Given the description of an element on the screen output the (x, y) to click on. 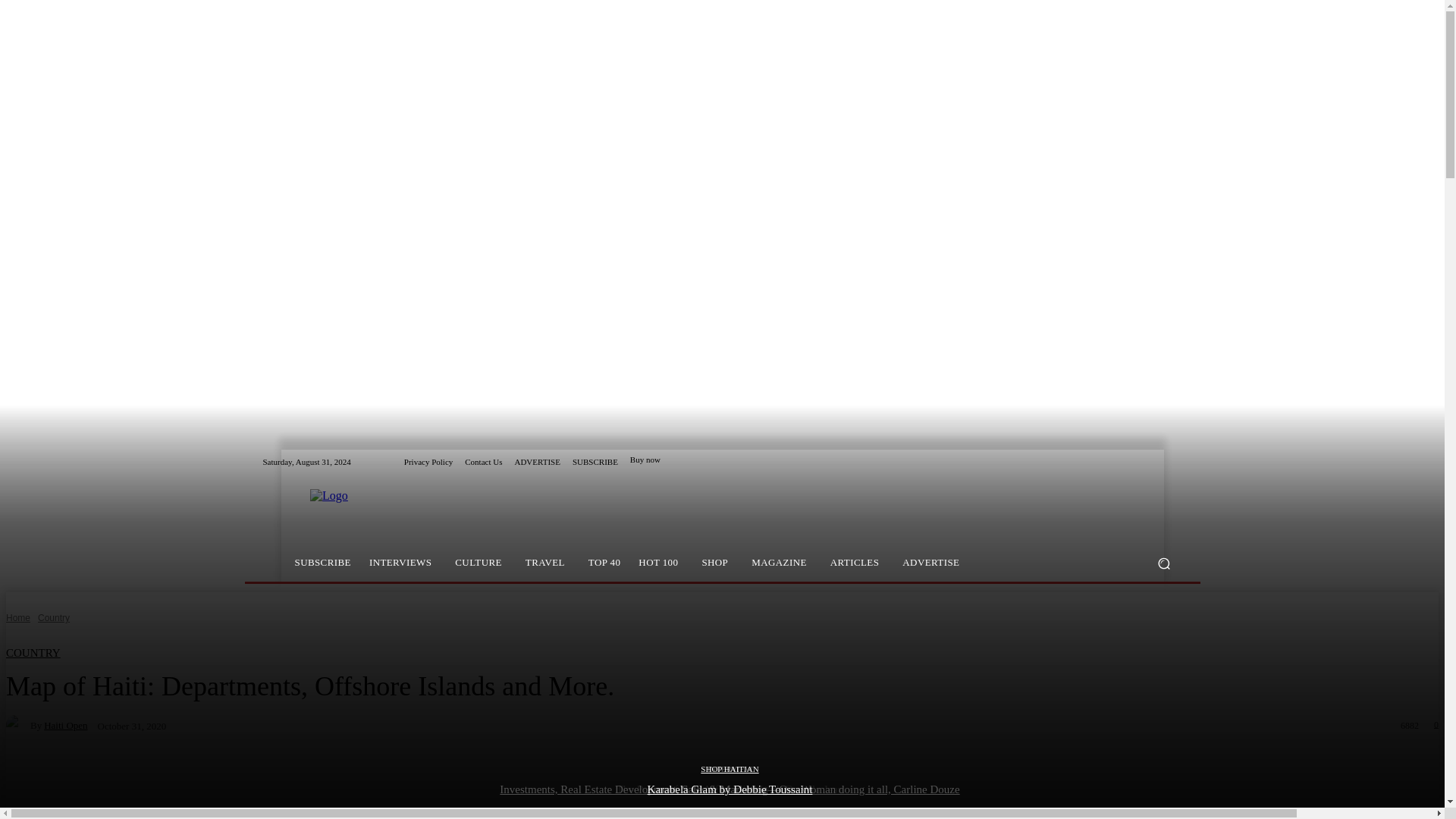
Instagram (1153, 461)
Facebook (1135, 461)
Privacy Policy (428, 461)
Contact Us (483, 461)
ADVERTISE (536, 461)
Twitter (1171, 461)
SUBSCRIBE (594, 461)
